Given the description of an element on the screen output the (x, y) to click on. 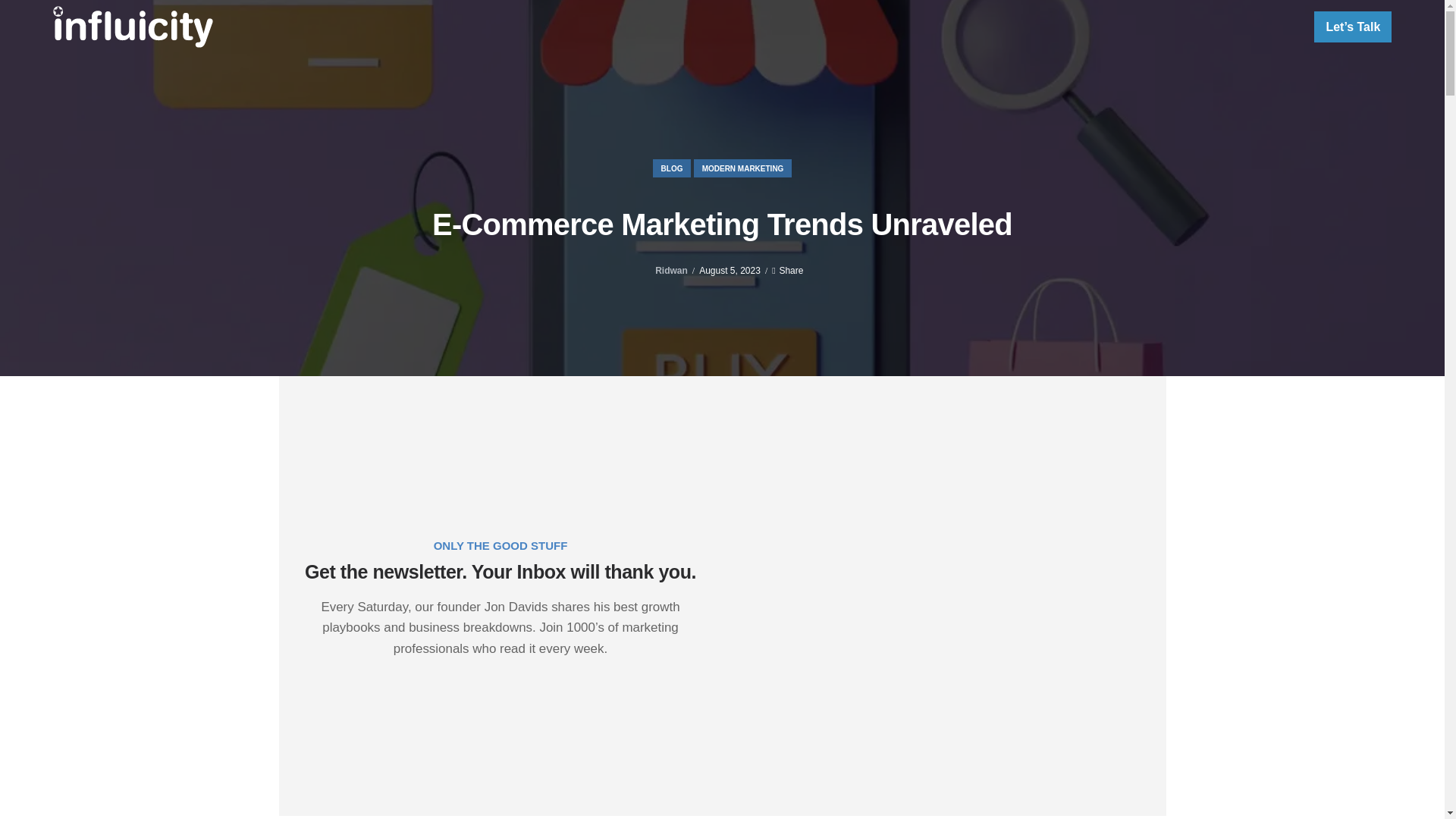
Share (787, 270)
Ridwan (671, 270)
MODERN MARKETING (743, 167)
BLOG (671, 167)
